Given the description of an element on the screen output the (x, y) to click on. 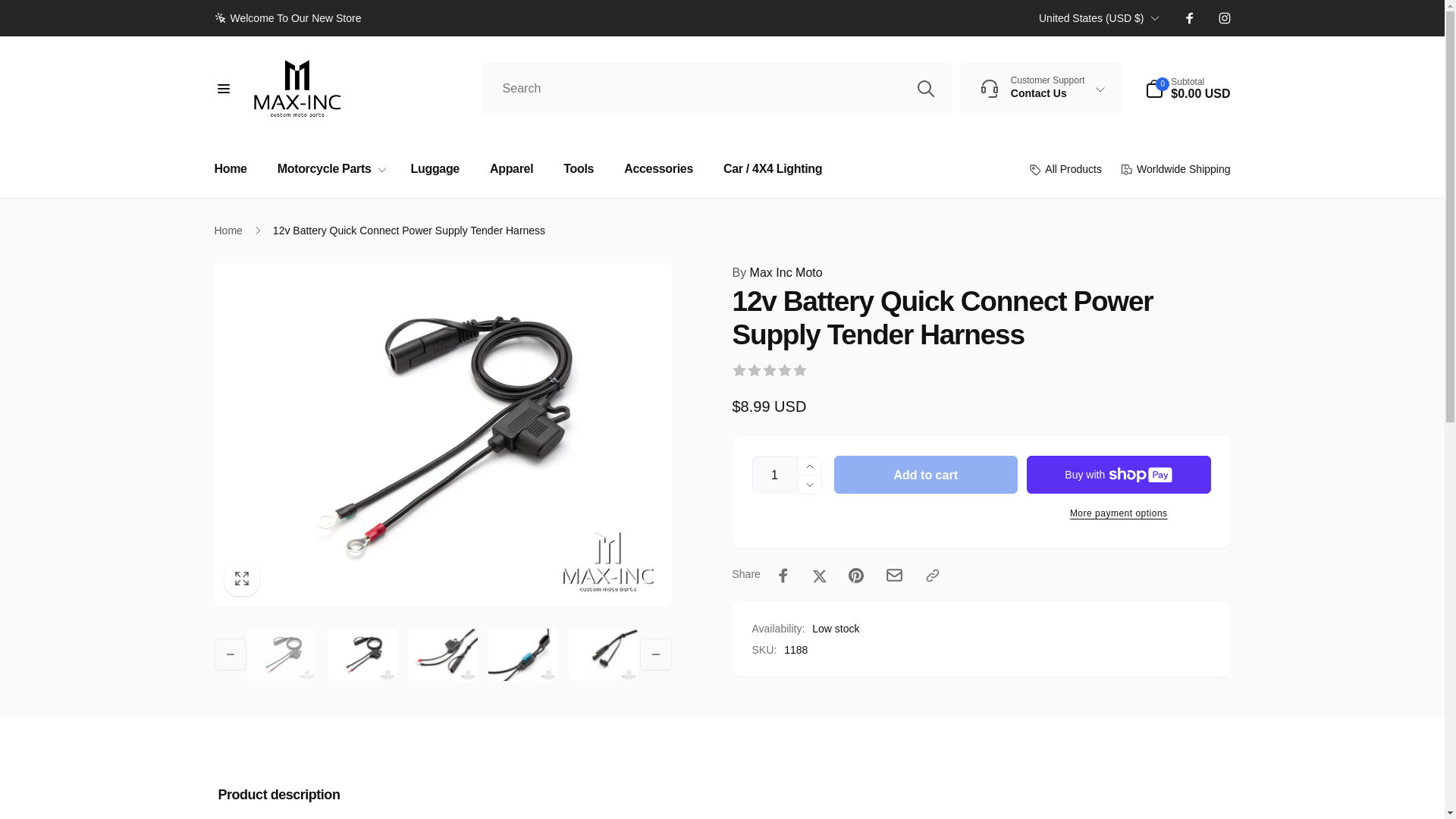
1 (774, 475)
Skip to content (24, 16)
